Given the description of an element on the screen output the (x, y) to click on. 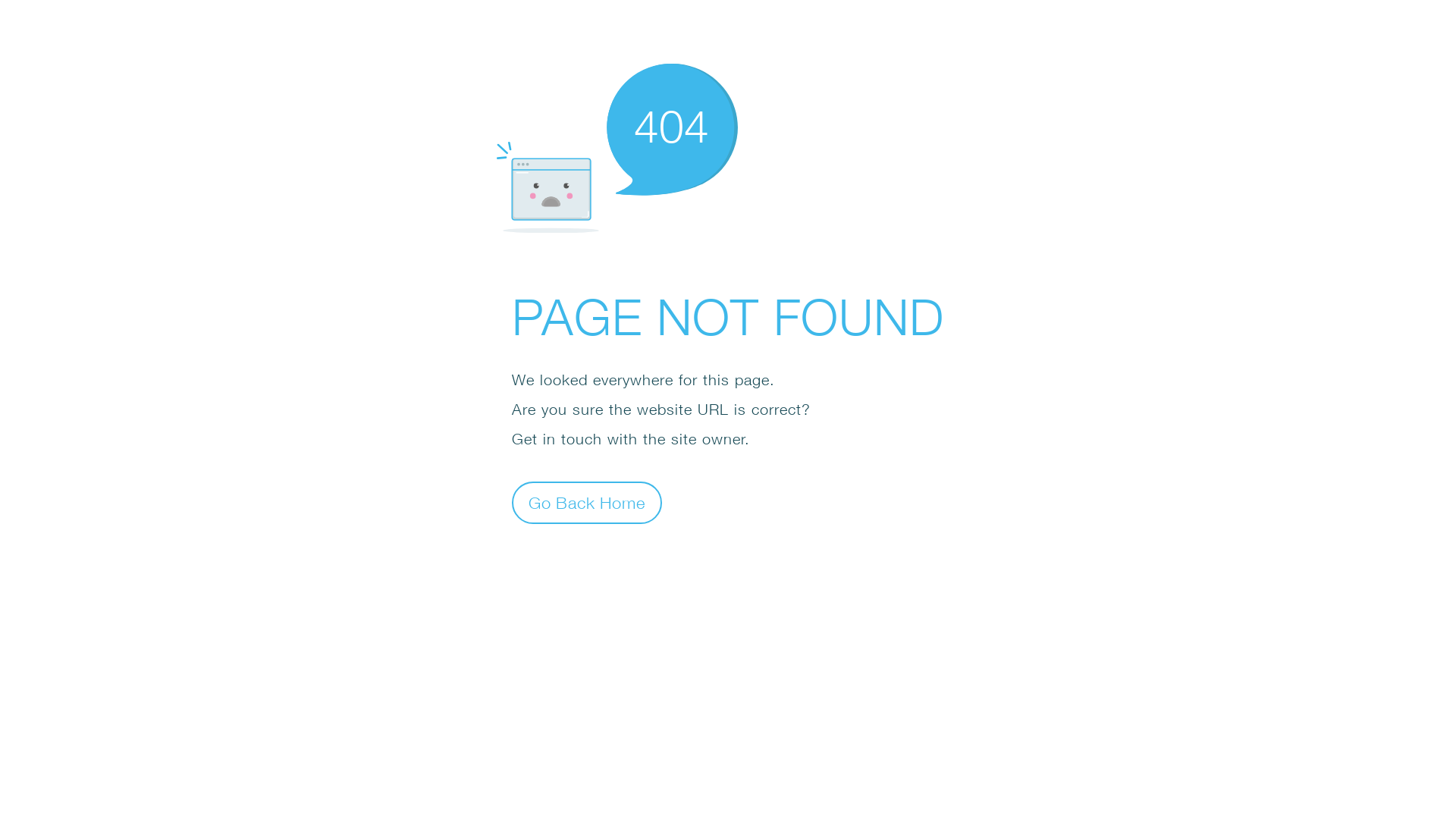
Go Back Home Element type: text (586, 502)
